Given the description of an element on the screen output the (x, y) to click on. 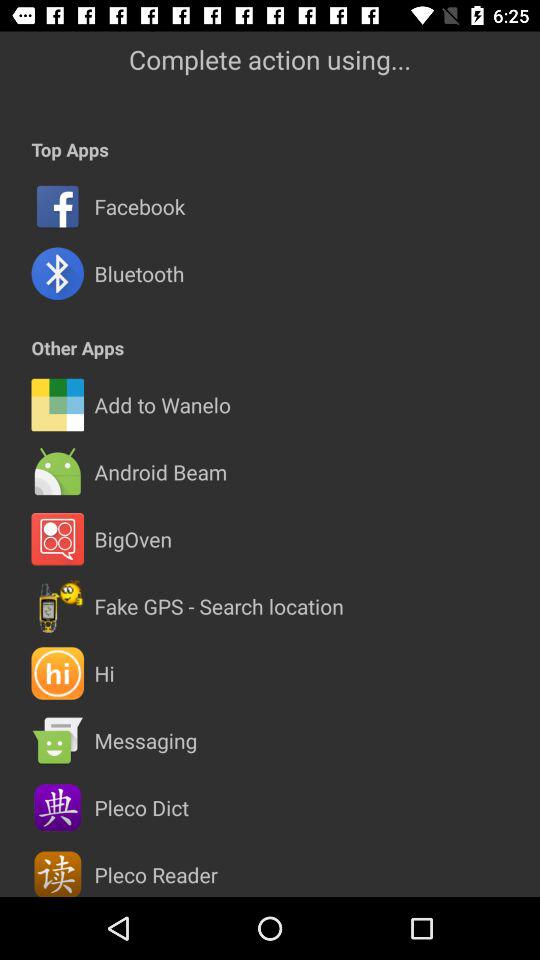
open the pleco dict (141, 807)
